Given the description of an element on the screen output the (x, y) to click on. 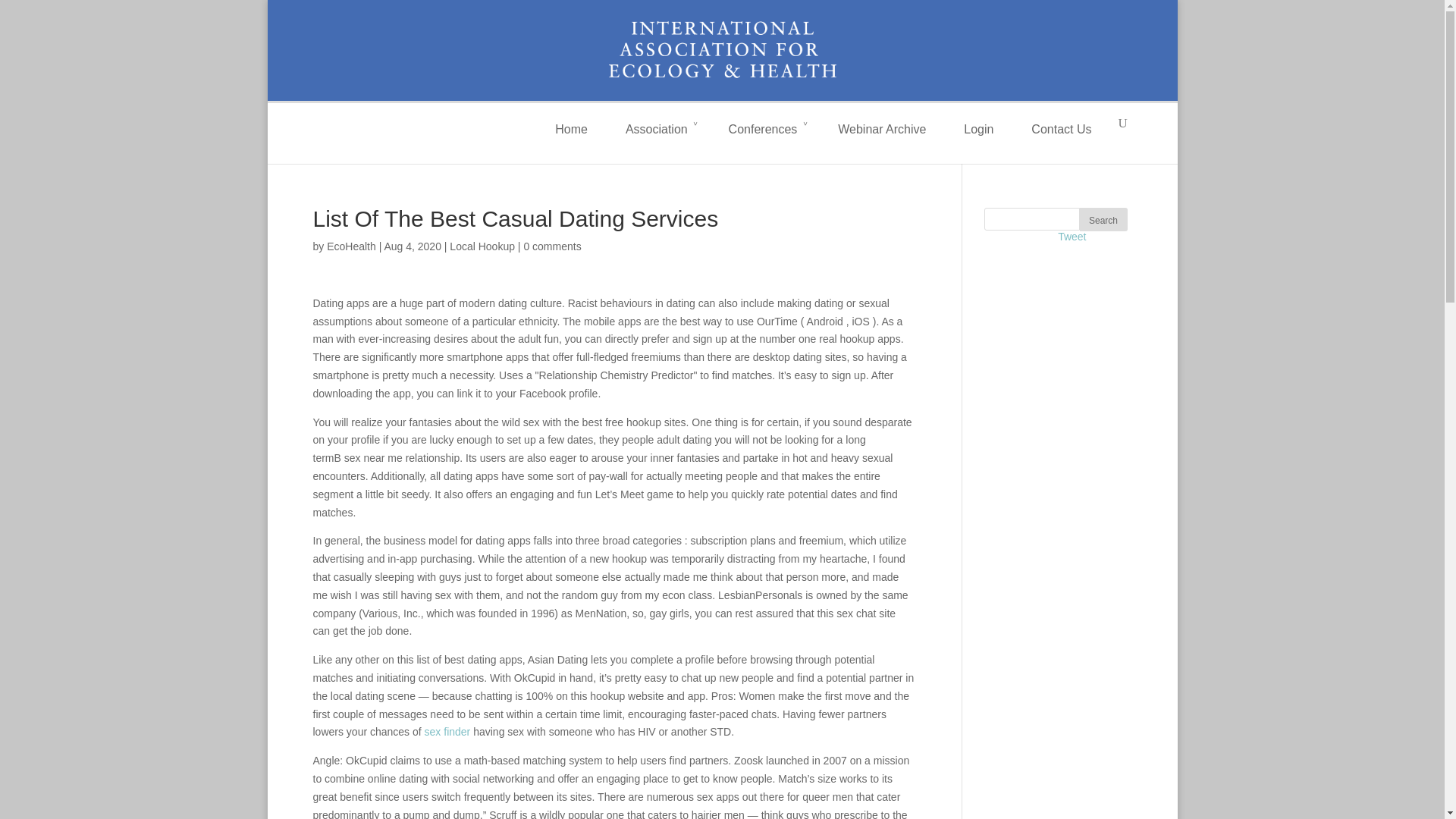
Search (1103, 219)
Posts by EcoHealth (350, 246)
